Given the description of an element on the screen output the (x, y) to click on. 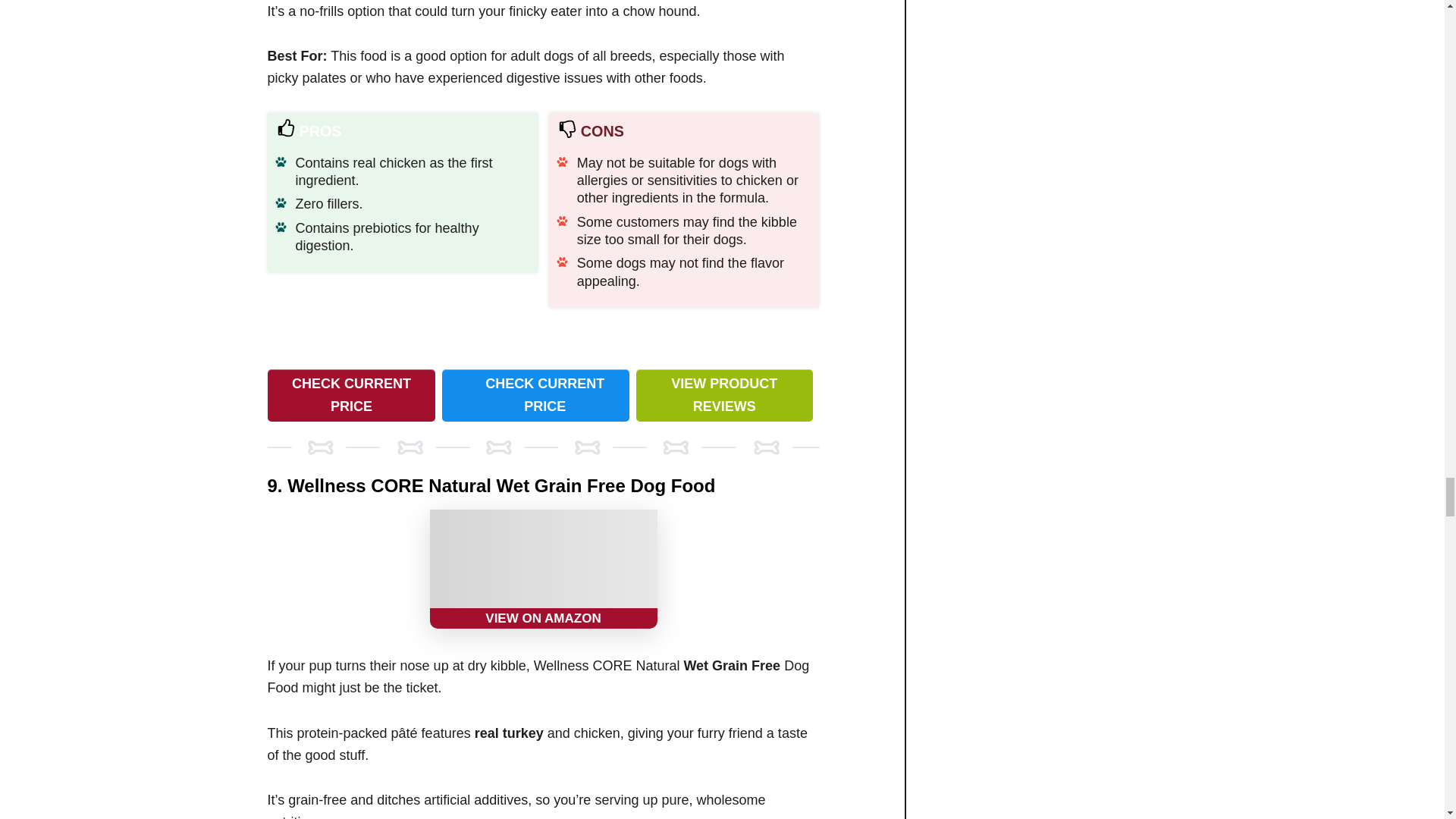
Wellness Natural Pet Food CORE (542, 568)
